Given the description of an element on the screen output the (x, y) to click on. 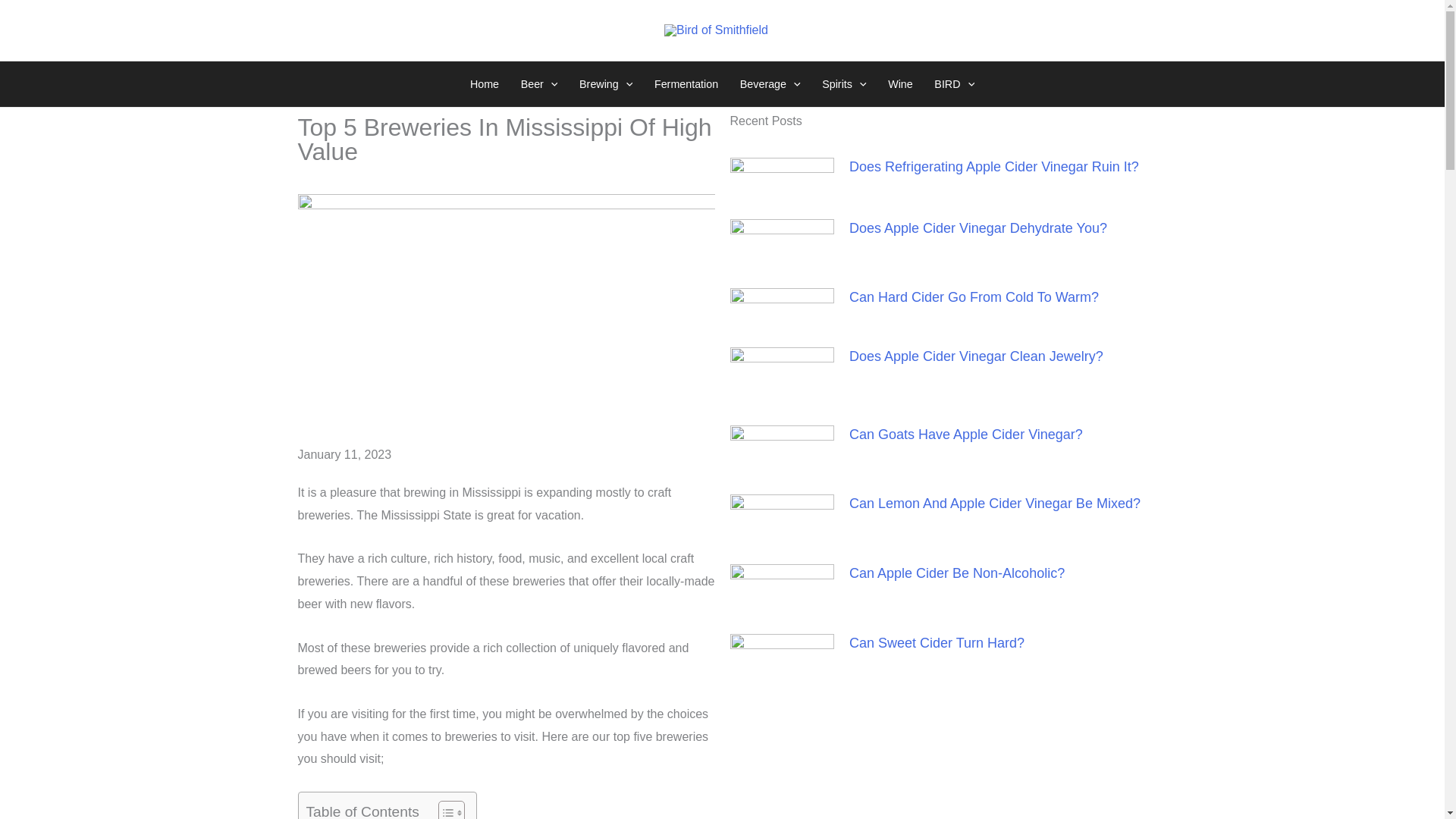
Fermentation (686, 84)
Beverage (769, 84)
Spirits (843, 84)
Wine (900, 84)
BIRD (954, 84)
Beer (538, 84)
Brewing (606, 84)
Home (485, 84)
